Given the description of an element on the screen output the (x, y) to click on. 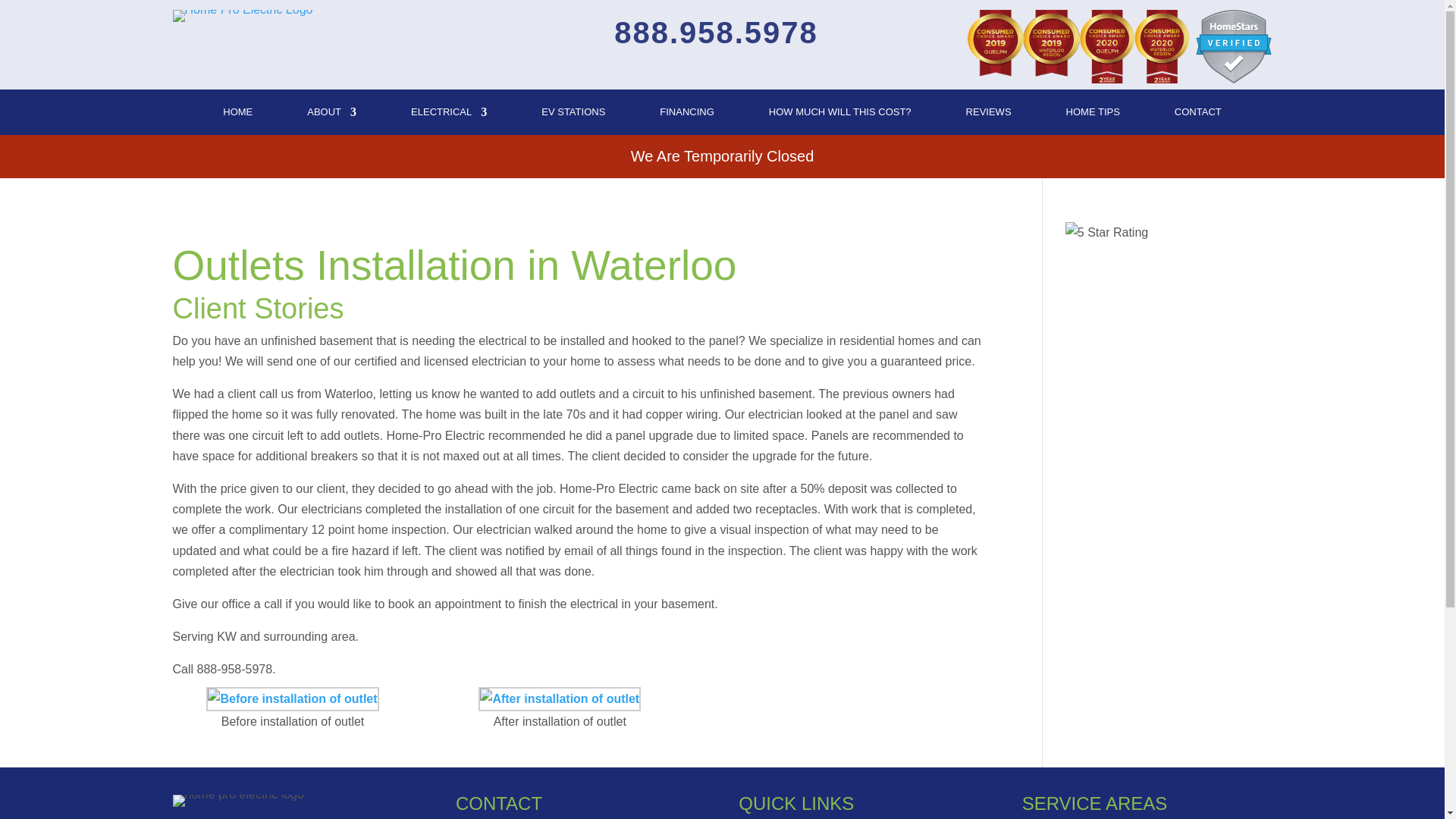
888.958.5978 (716, 32)
FINANCING (686, 115)
logo-w (238, 800)
hvac-logo (243, 15)
HOME (236, 115)
HOW MUCH WILL THIS COST? (839, 115)
CONTACT (1197, 115)
ABOUT (331, 115)
ELECTRICAL (448, 115)
HOME TIPS (1092, 115)
REVIEWS (988, 115)
EV STATIONS (573, 115)
